Given the description of an element on the screen output the (x, y) to click on. 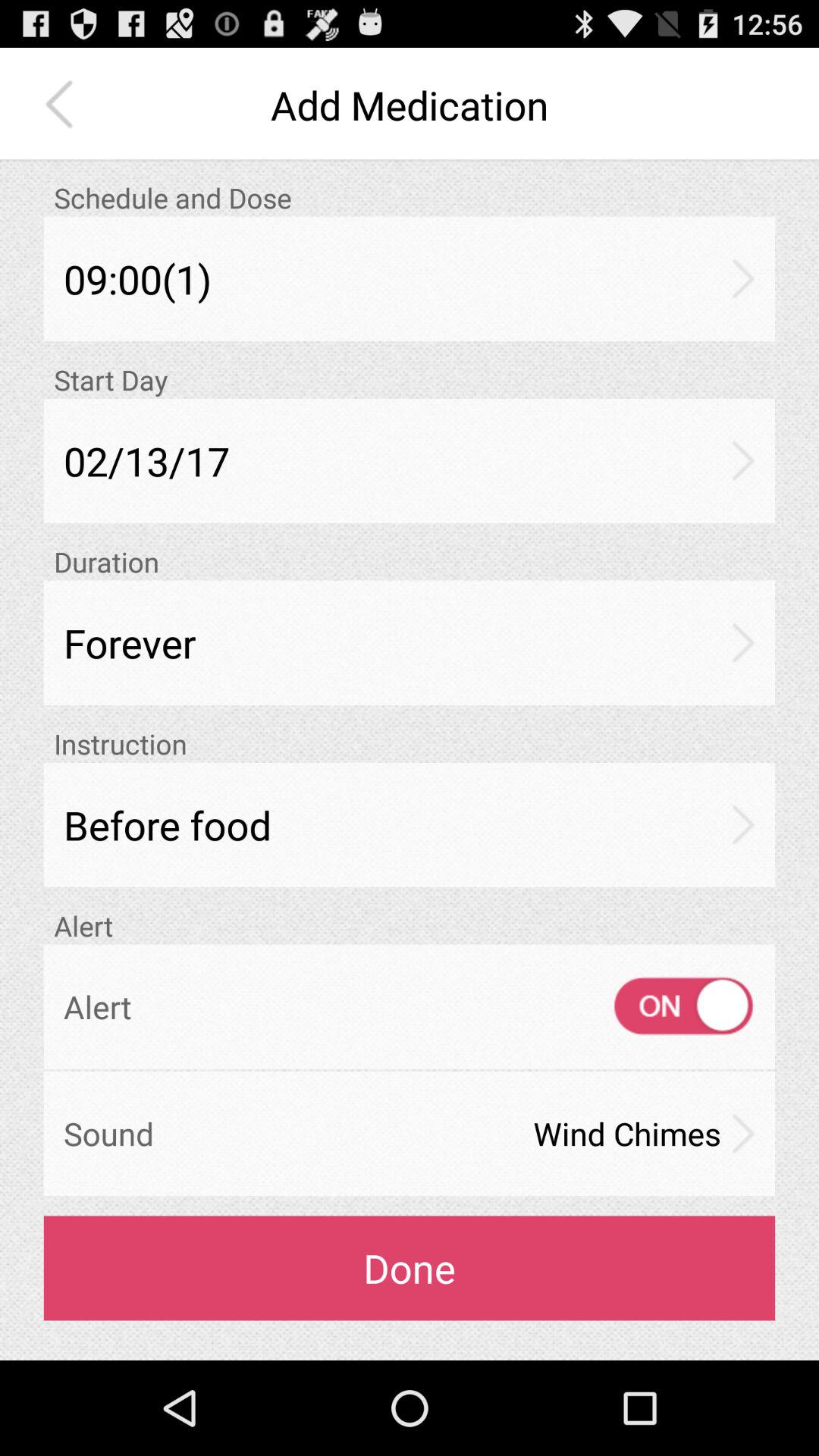
turn on app above the wind chimes (670, 1006)
